Given the description of an element on the screen output the (x, y) to click on. 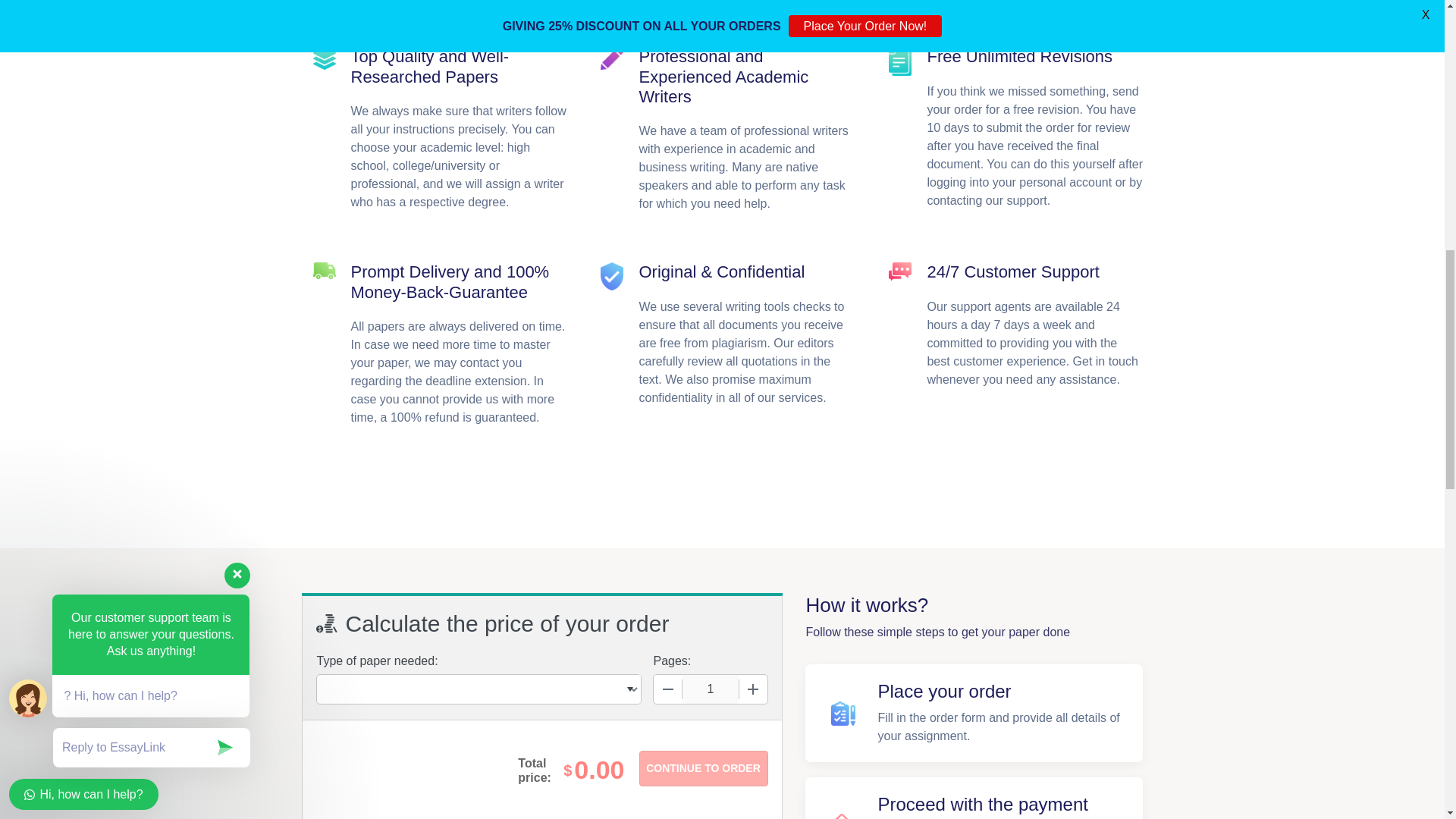
Increase (752, 688)
1 (710, 688)
Decrease (667, 688)
Continue to Order (703, 768)
Continue to order (703, 768)
Continue to order (703, 768)
